Given the description of an element on the screen output the (x, y) to click on. 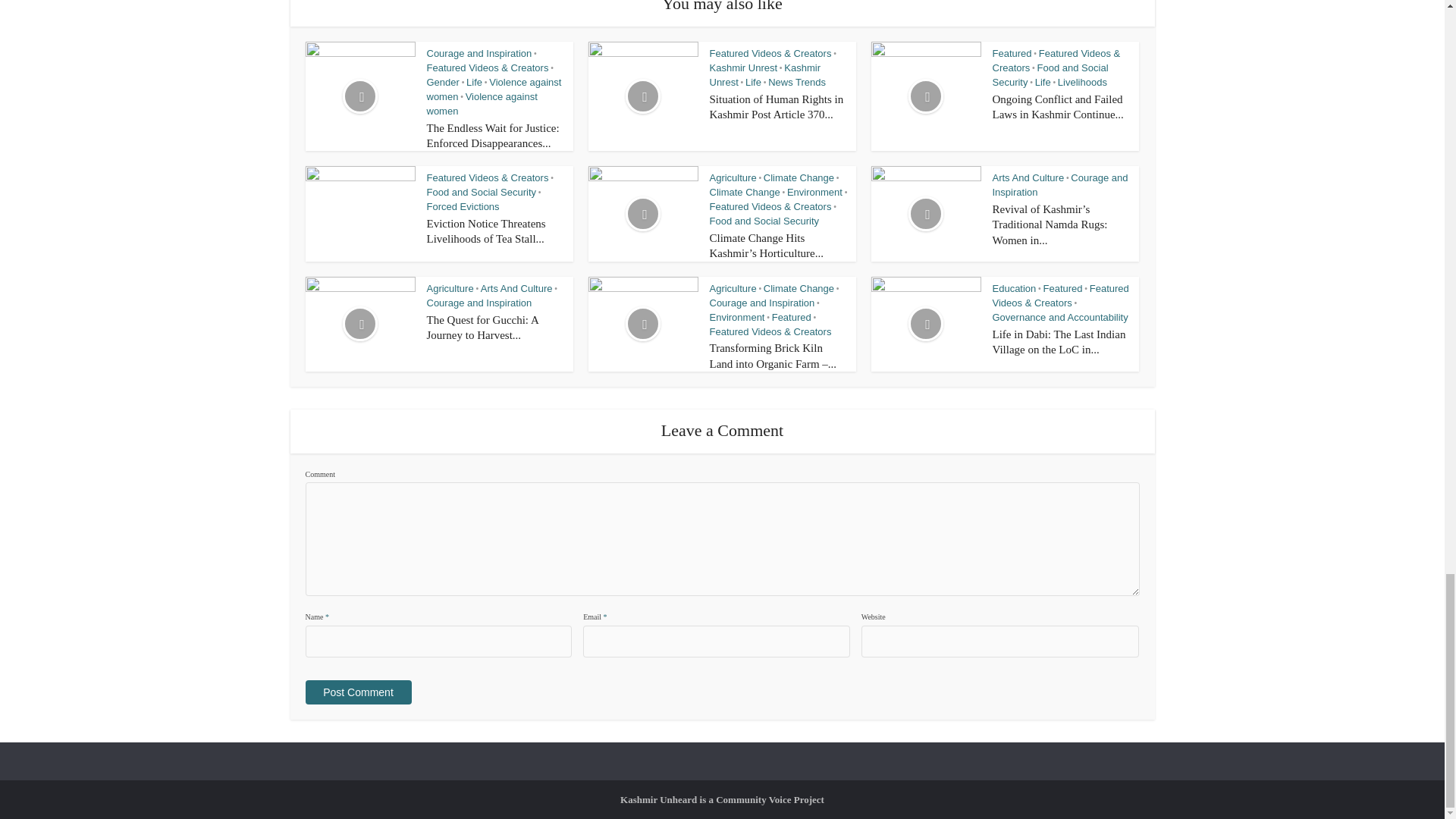
Post Comment (357, 692)
